Given the description of an element on the screen output the (x, y) to click on. 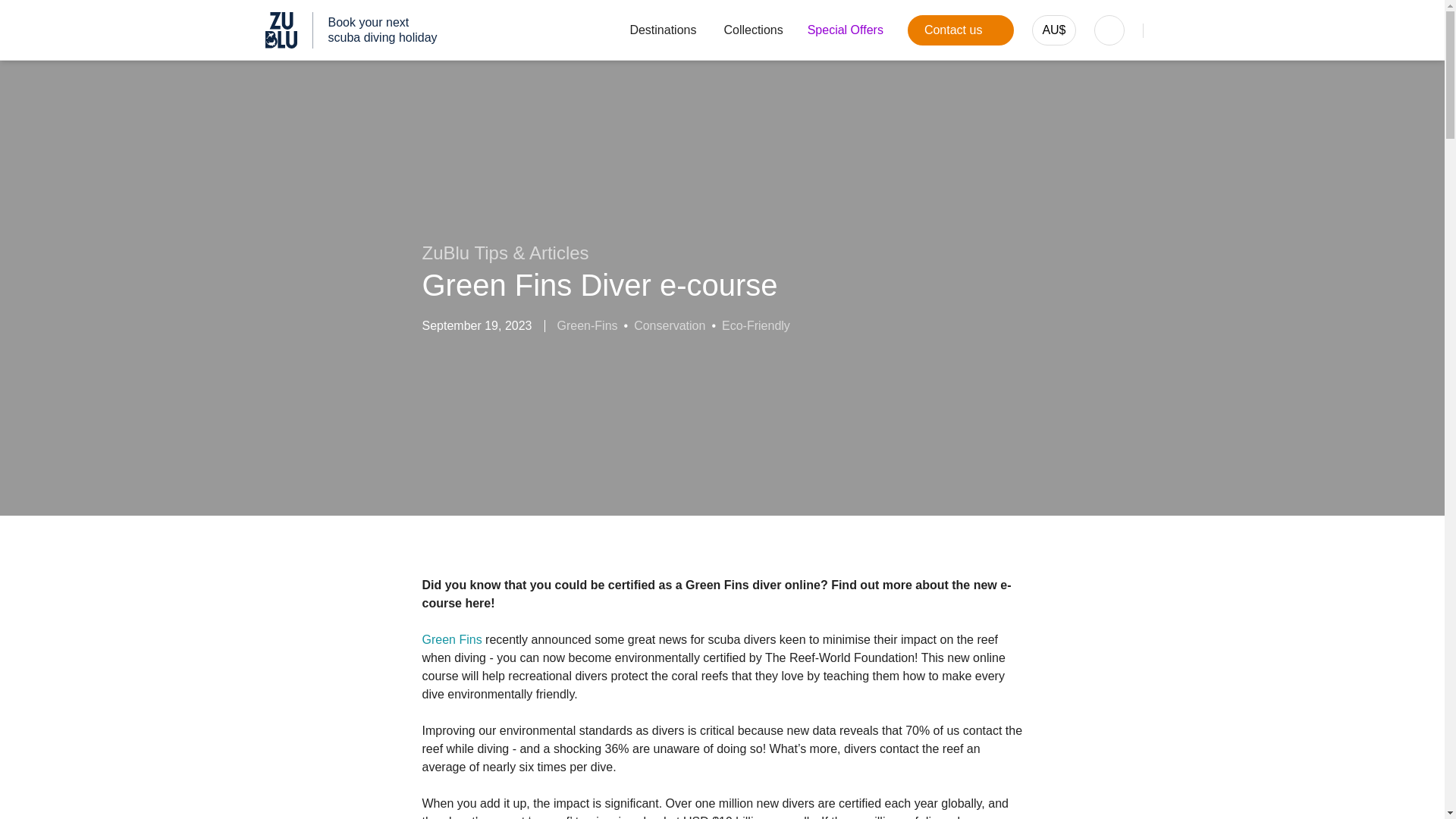
Contact us (960, 30)
button (753, 30)
Special Offers (845, 30)
Toggle dropdown (1053, 30)
Toggle dropdown (960, 30)
button (845, 30)
Eco-Friendly (756, 325)
Conservation (668, 325)
Green Fins (351, 30)
